Given the description of an element on the screen output the (x, y) to click on. 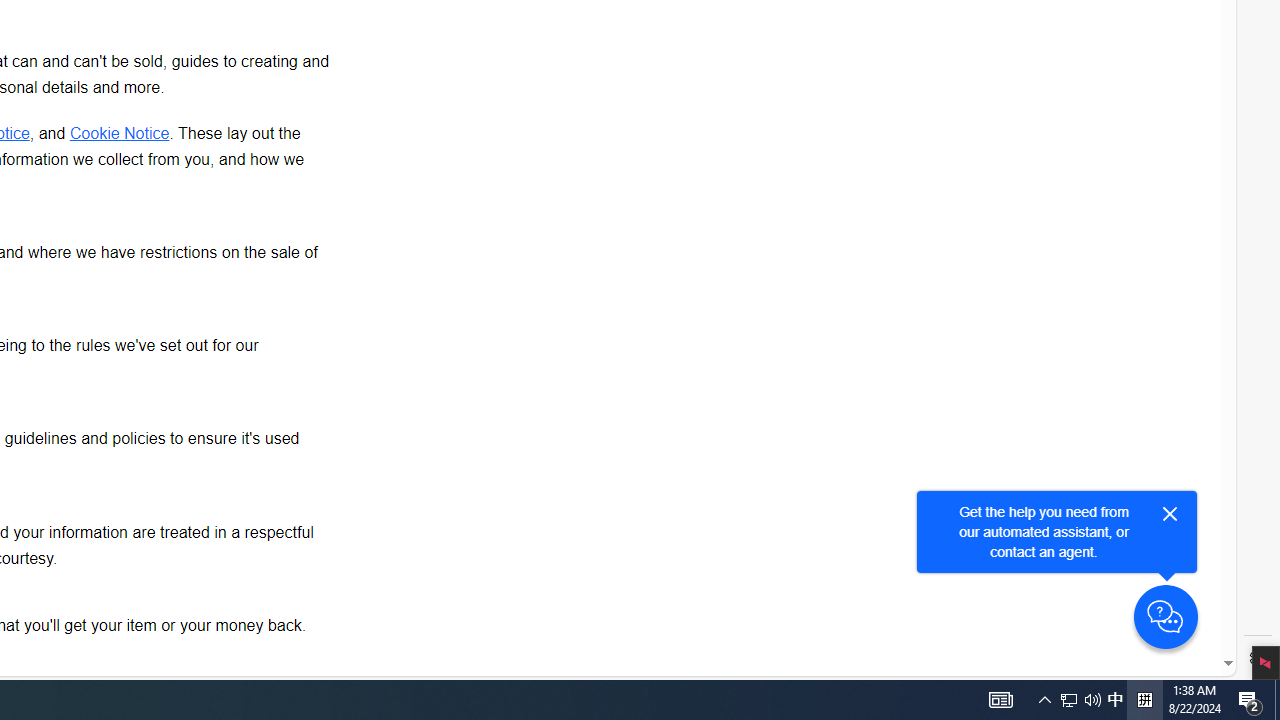
Cookie Notice (119, 132)
